Given the description of an element on the screen output the (x, y) to click on. 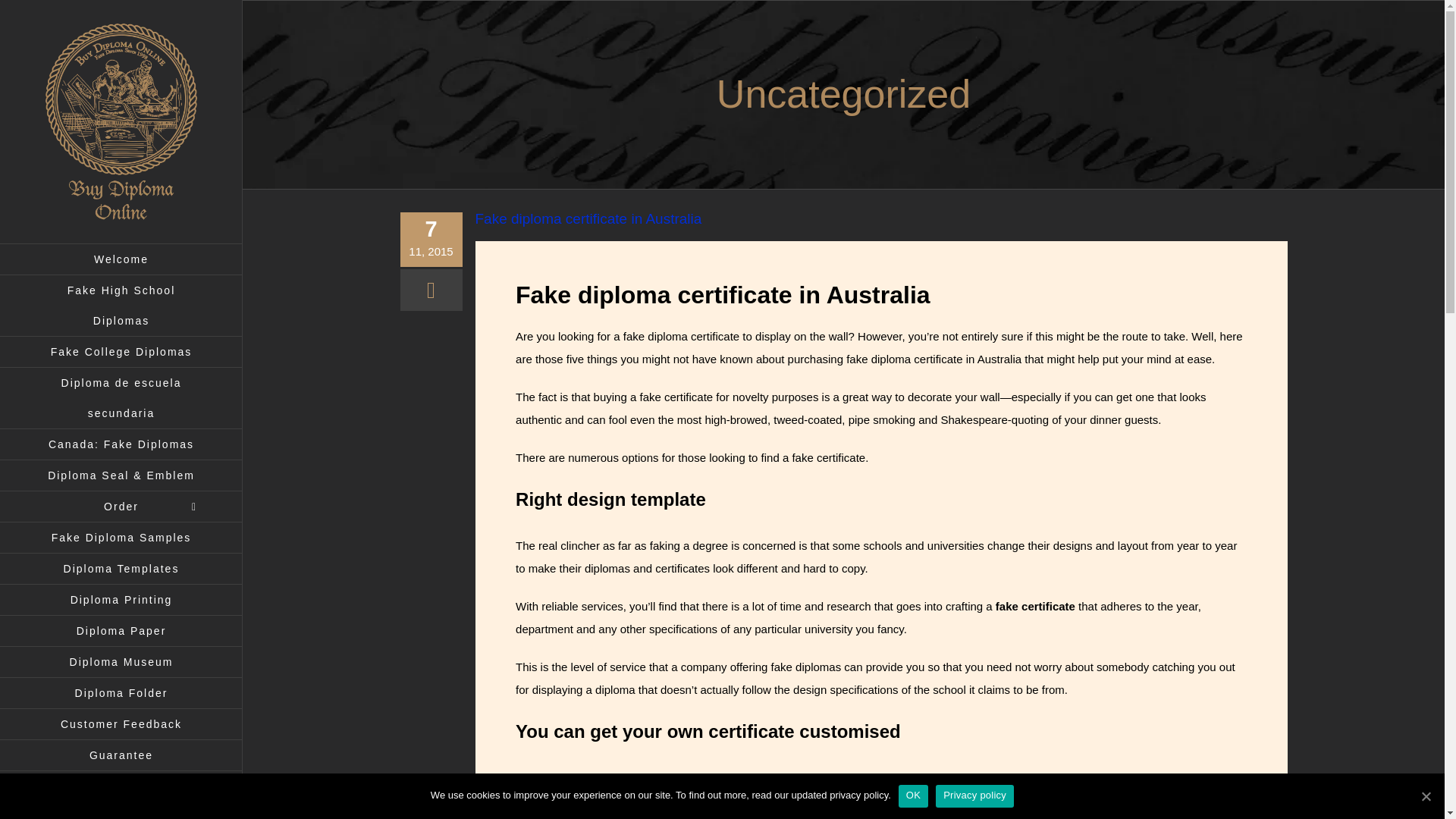
Fake High School Diplomas (121, 305)
Fake Diploma Samples (121, 537)
Order (121, 506)
Diploma Museum (121, 662)
Diploma de escuela secundaria (121, 398)
FAQ (121, 786)
Diploma Paper (121, 631)
Fake College Diplomas (121, 351)
Guarantee (121, 755)
Diploma Templates (121, 568)
Diploma Folder (121, 693)
Canada: Fake Diplomas (121, 444)
Customer Feedback (121, 724)
Diploma Printing (121, 599)
Welcome (121, 259)
